Given the description of an element on the screen output the (x, y) to click on. 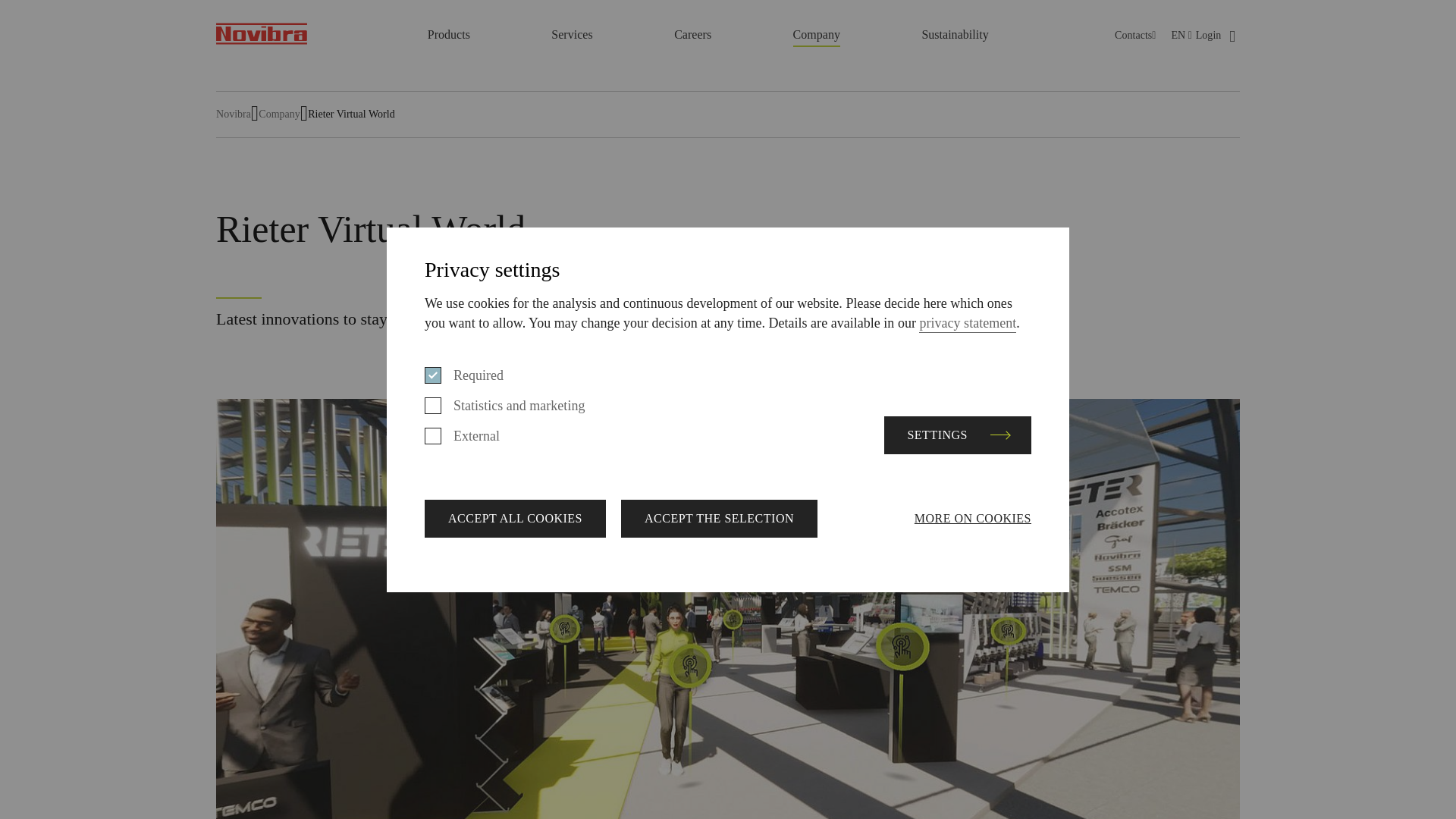
Products (449, 36)
Sustainability (954, 33)
Products (449, 36)
Company (816, 36)
Services (571, 36)
Company (816, 36)
Services (571, 36)
Careers (692, 36)
Careers (692, 36)
